Given the description of an element on the screen output the (x, y) to click on. 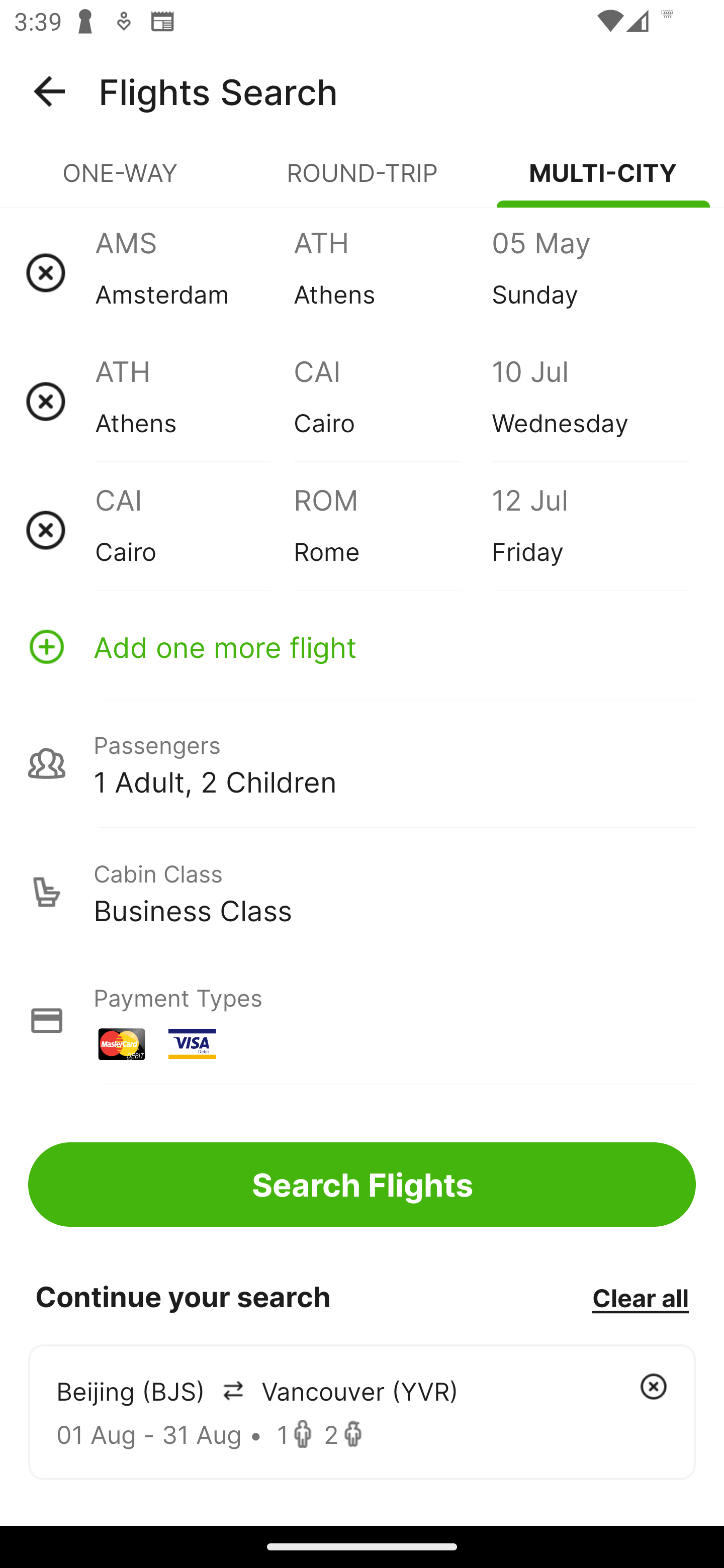
ONE-WAY (120, 180)
ROUND-TRIP (361, 180)
MULTI-CITY (603, 180)
AMS Amsterdam (193, 272)
ATH Athens (392, 272)
05 May Sunday (590, 272)
ATH Athens (193, 401)
CAI Cairo (392, 401)
10 Jul Wednesday (590, 401)
CAI Cairo (193, 529)
ROM Rome (392, 529)
12 Jul Friday (590, 529)
Add one more flight (362, 646)
Passengers 1 Adult, 2 Children (362, 762)
Cabin Class Business Class (362, 891)
Payment Types (362, 1020)
Search Flights (361, 1184)
Clear all (640, 1297)
